Given the description of an element on the screen output the (x, y) to click on. 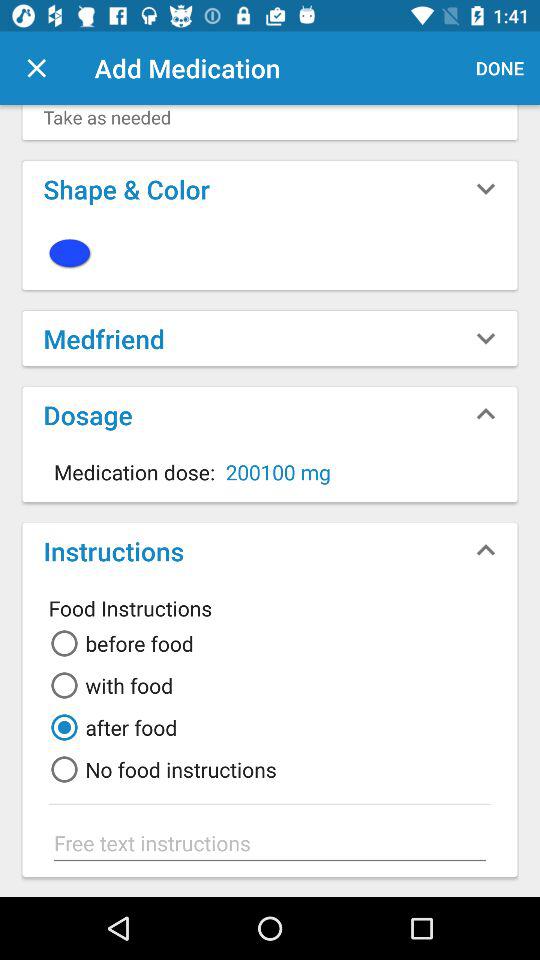
flip to the after food icon (110, 727)
